Given the description of an element on the screen output the (x, y) to click on. 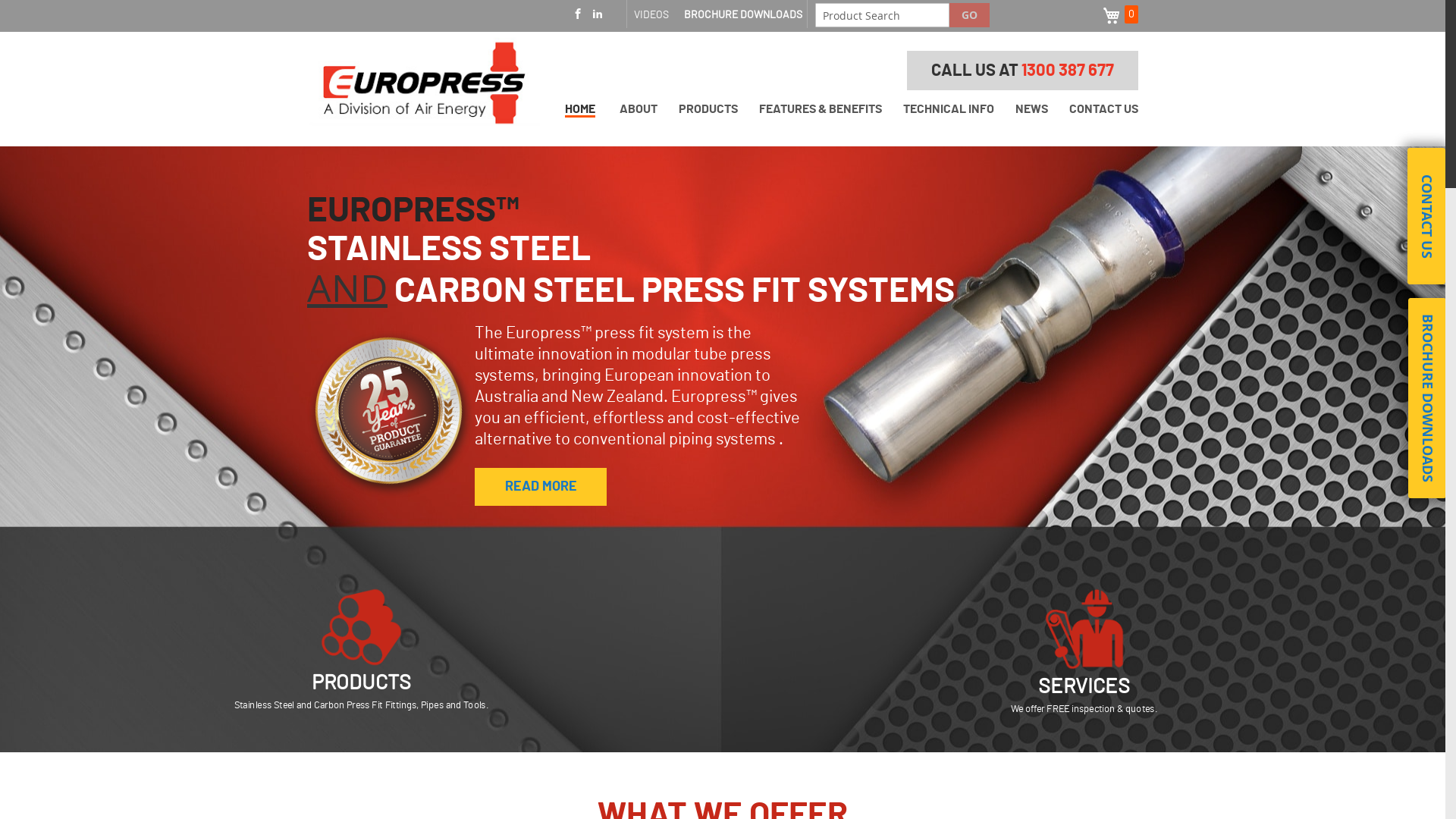
We offer FREE inspection & quotes. Element type: text (1091, 709)
GO Element type: text (969, 15)
FEATURES & BENEFITS Element type: text (820, 109)
SERVICES Element type: text (1088, 688)
Europress FB Element type: hover (577, 14)
1300 387 677 Element type: text (1067, 70)
ABOUT Element type: text (638, 109)
NEWS Element type: text (1031, 109)
PRODUCTS Element type: text (366, 684)
PRODUCTS Element type: text (707, 109)
Europress Linkedin Element type: hover (597, 14)
HOME Element type: text (579, 110)
TECHNICAL INFO Element type: text (948, 109)
CONTACT US Element type: text (1103, 109)
VIDEOS Element type: text (650, 14)
READ MORE Element type: text (541, 486)
Europress> Element type: hover (423, 86)
0 Element type: text (1118, 15)
BROCHURE DOWNLOADS Element type: text (743, 14)
